Given the description of an element on the screen output the (x, y) to click on. 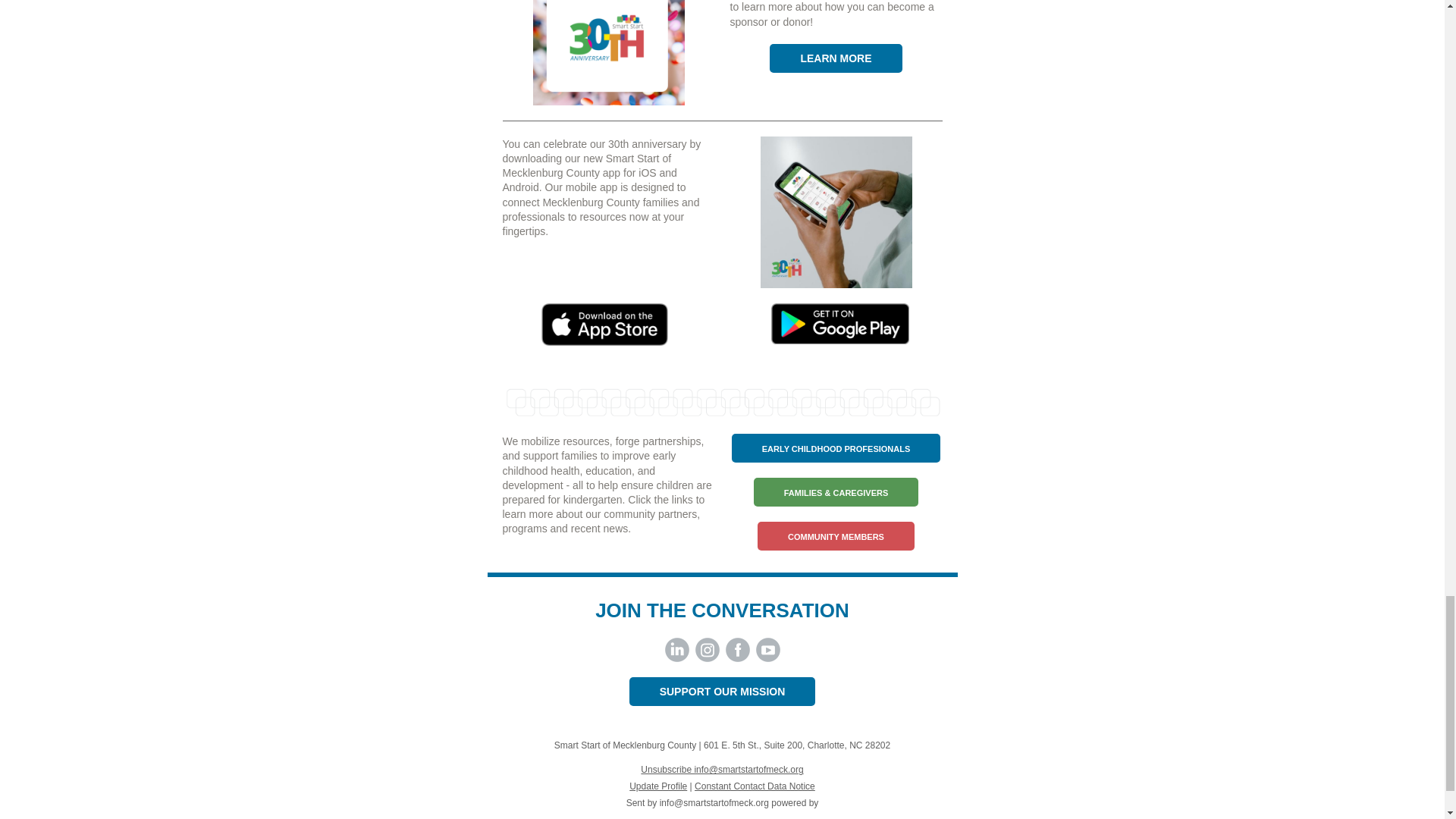
COMMUNITY MEMBERS (835, 536)
LEARN MORE (834, 58)
Constant Contact Data Notice (754, 786)
SUPPORT OUR MISSION (722, 691)
Update Profile (657, 786)
EARLY CHILDHOOD PROFESIONALS (836, 448)
